Given the description of an element on the screen output the (x, y) to click on. 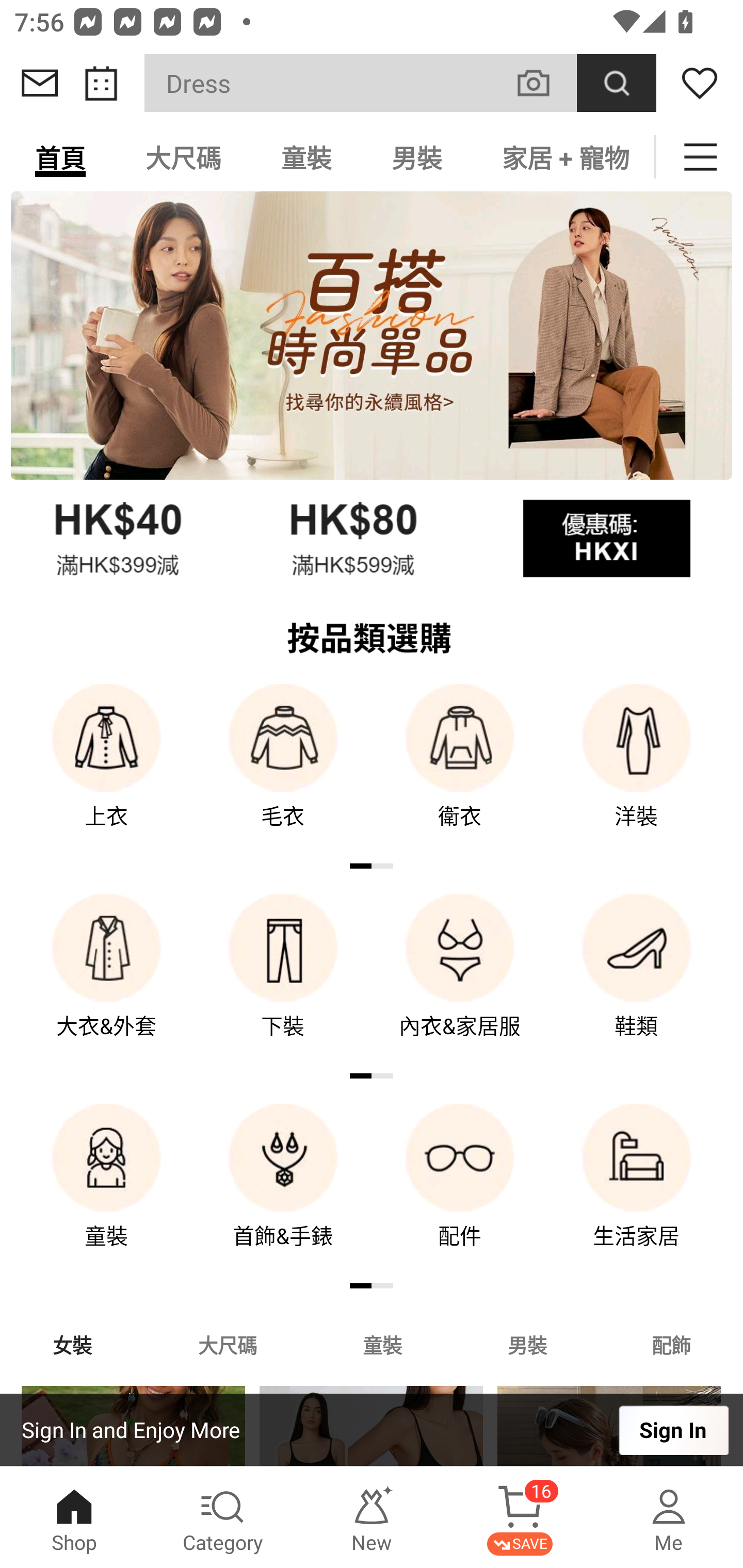
Wishlist (699, 82)
VISUAL SEARCH (543, 82)
首頁 (60, 156)
大尺碼 (183, 156)
童裝 (306, 156)
男裝 (416, 156)
家居 + 寵物 (563, 156)
上衣 (105, 769)
毛衣 (282, 769)
衛衣 (459, 769)
洋裝 (636, 769)
大衣&外套 (105, 979)
下裝 (282, 979)
內衣&家居服 (459, 979)
鞋類 (636, 979)
童裝 (105, 1189)
首飾&手錶 (282, 1189)
配件 (459, 1189)
生活家居 (636, 1189)
女裝 (72, 1344)
大尺碼 (226, 1344)
童裝 (381, 1344)
男裝 (527, 1344)
配飾 (671, 1344)
Sign In and Enjoy More Sign In (371, 1429)
Category (222, 1517)
New (371, 1517)
Cart 16 SAVE (519, 1517)
Me (668, 1517)
